Given the description of an element on the screen output the (x, y) to click on. 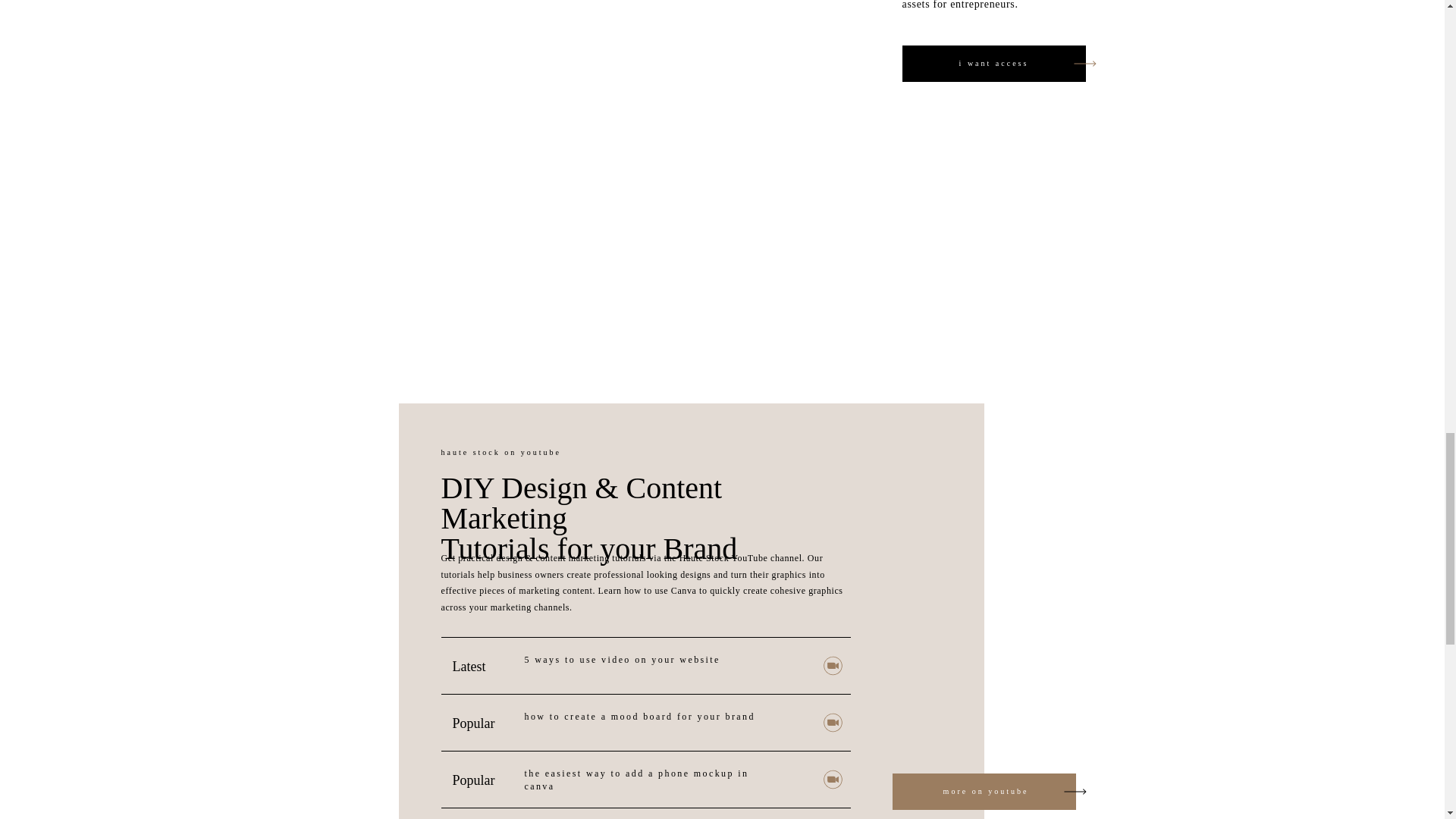
work from home stock photo collection. (611, 50)
